Given the description of an element on the screen output the (x, y) to click on. 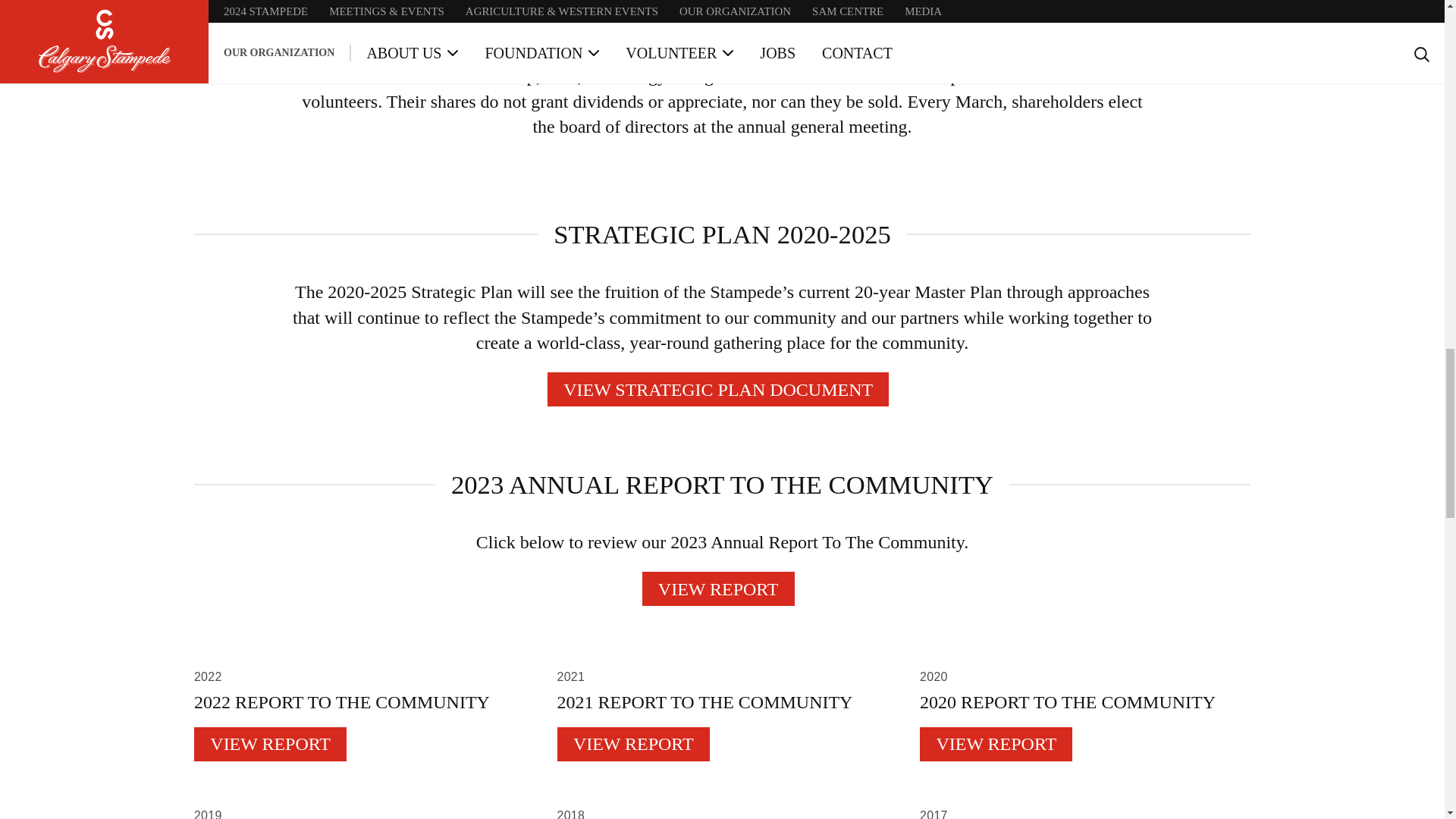
View report (717, 588)
View Strategic Plan Document (718, 389)
View Report (995, 744)
View Report (269, 744)
View Report (633, 744)
